Given the description of an element on the screen output the (x, y) to click on. 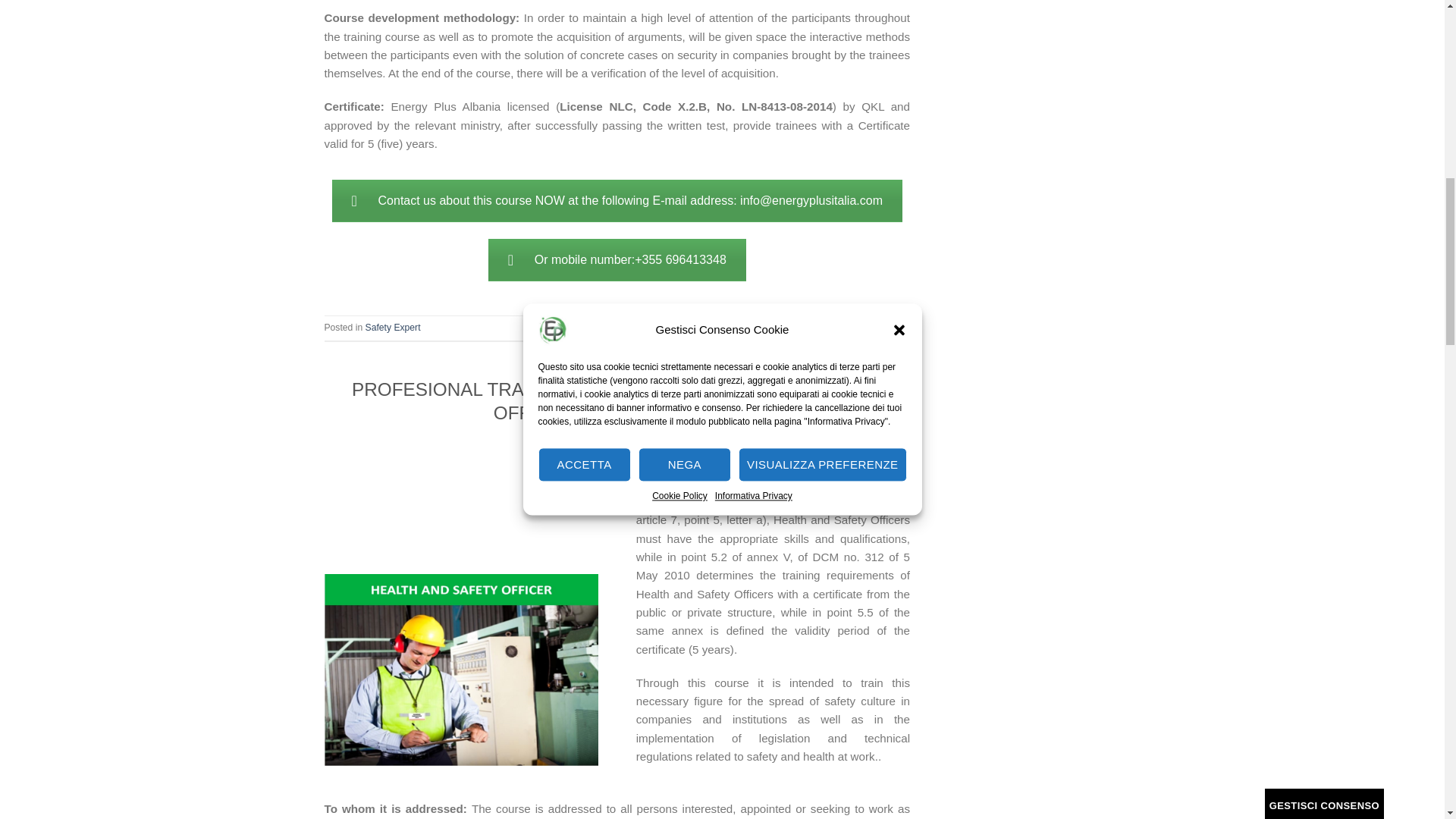
Safety Expert (392, 327)
SAFETY EXPERT (616, 368)
ACCETTA (584, 13)
